Given the description of an element on the screen output the (x, y) to click on. 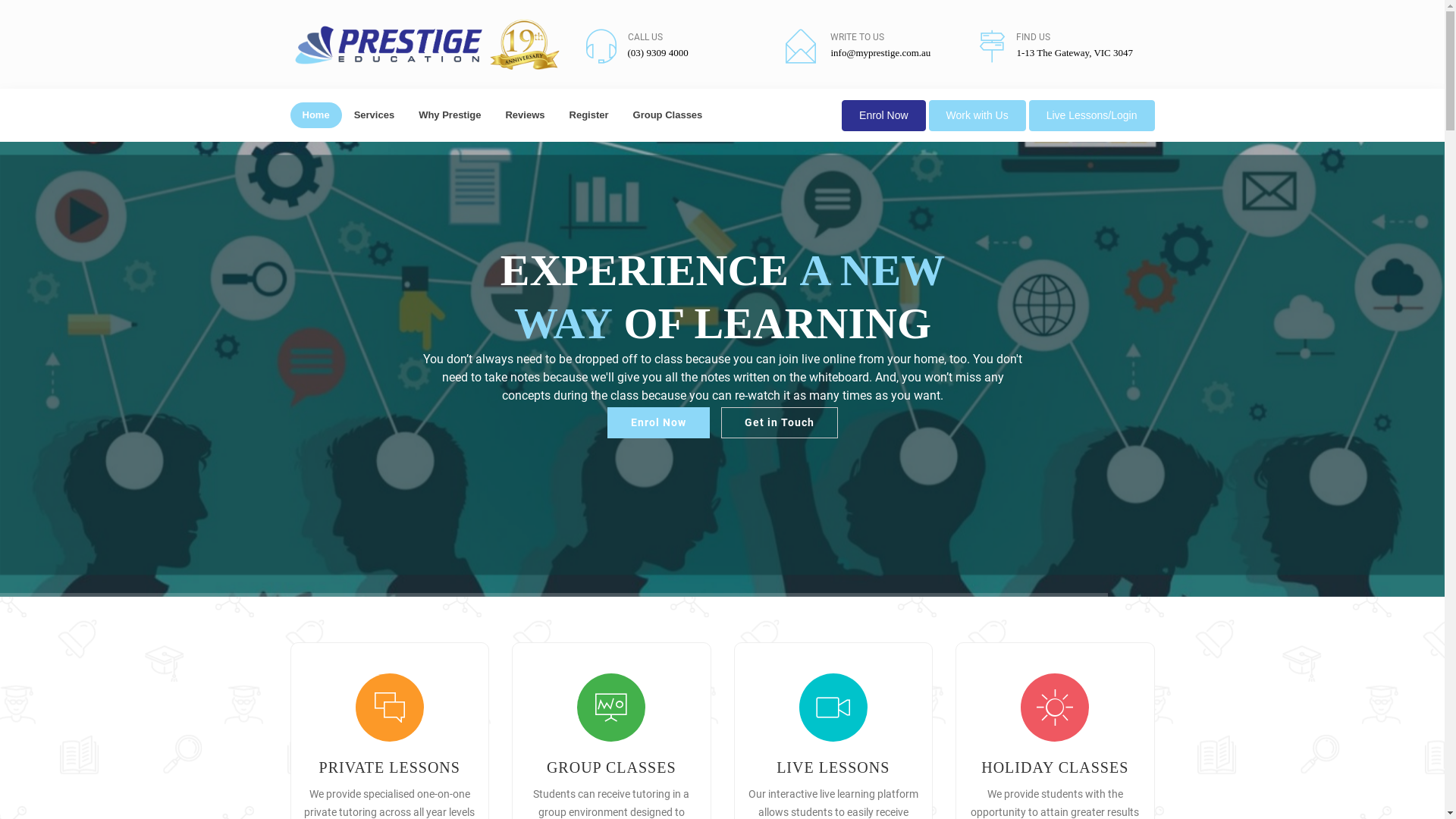
FIND US Element type: text (1033, 36)
Reviews Element type: text (524, 114)
Live Lessons/Login Element type: text (1091, 115)
Enrol Now Element type: text (658, 422)
Services Element type: text (374, 114)
Enrol Now Element type: text (883, 115)
Work with Us Element type: text (977, 115)
Why Prestige Element type: text (449, 114)
PRIVATE LESSONS Element type: text (389, 767)
GROUP CLASSES Element type: text (611, 767)
Register Element type: text (589, 114)
WRITE TO US Element type: text (857, 36)
HOLIDAY CLASSES Element type: text (1054, 767)
Home Element type: text (315, 114)
Get in Touch Element type: text (779, 422)
CALL US Element type: text (644, 36)
LIVE LESSONS Element type: text (832, 767)
Group Classes Element type: text (668, 114)
